Given the description of an element on the screen output the (x, y) to click on. 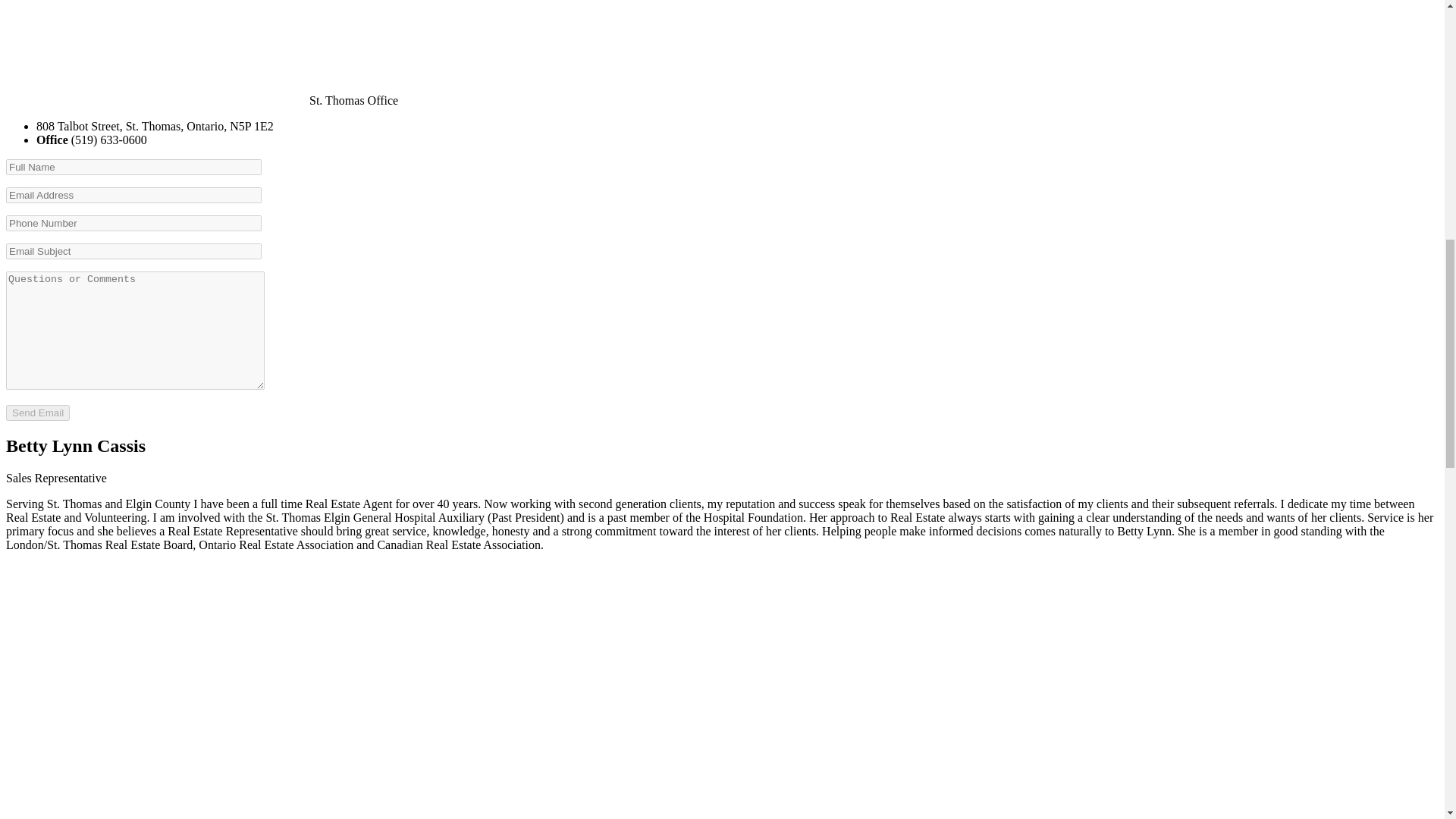
Send Email (37, 412)
Send Email (37, 412)
